Given the description of an element on the screen output the (x, y) to click on. 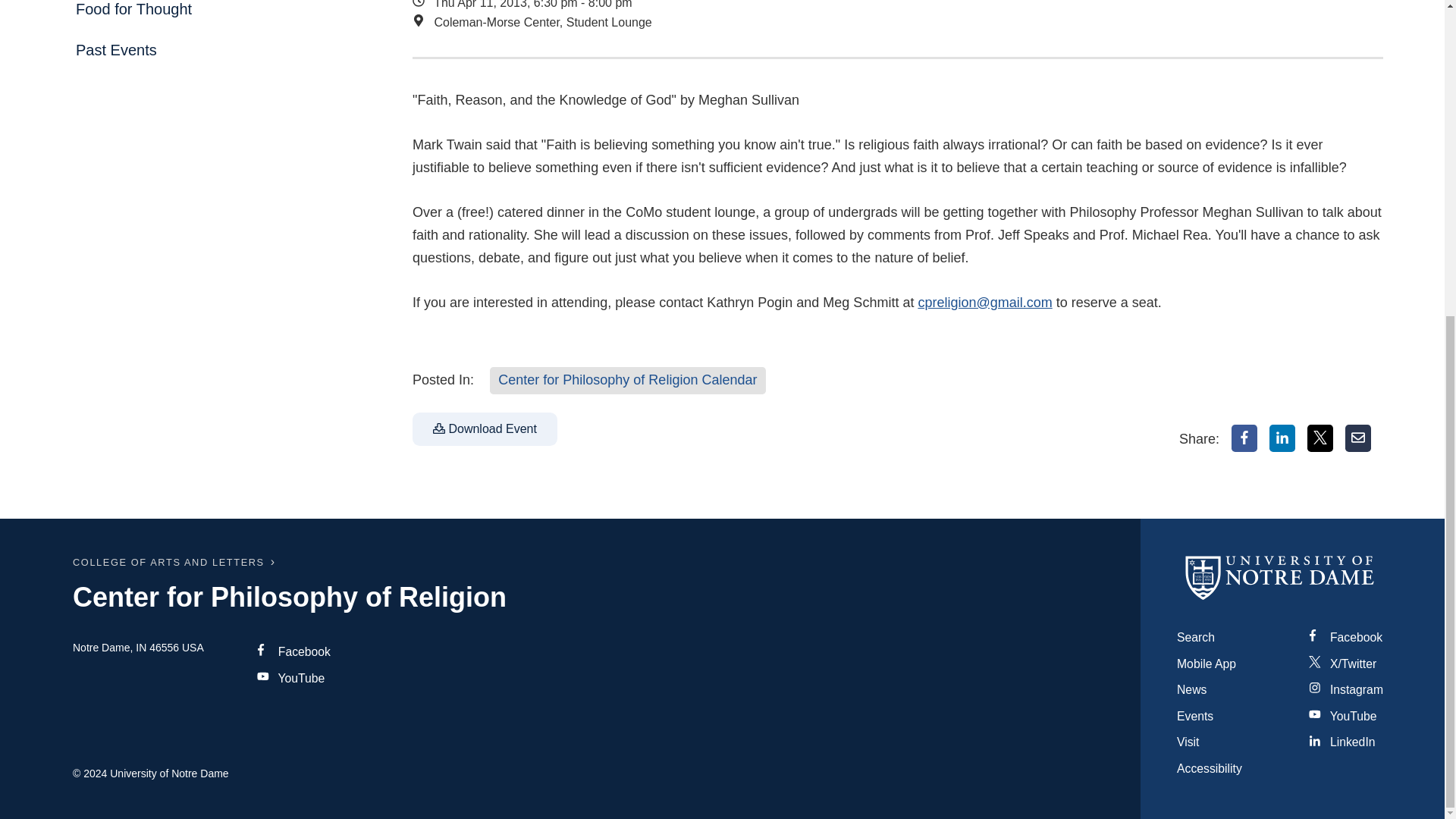
Center for Philosophy of Religion Calendar (627, 379)
LinkedIn (1282, 438)
Email (1358, 438)
Facebook (1244, 438)
Download Event (484, 428)
Thu Apr 11, 2013  6:30 pm -  8:00 pm (806, 6)
